Given the description of an element on the screen output the (x, y) to click on. 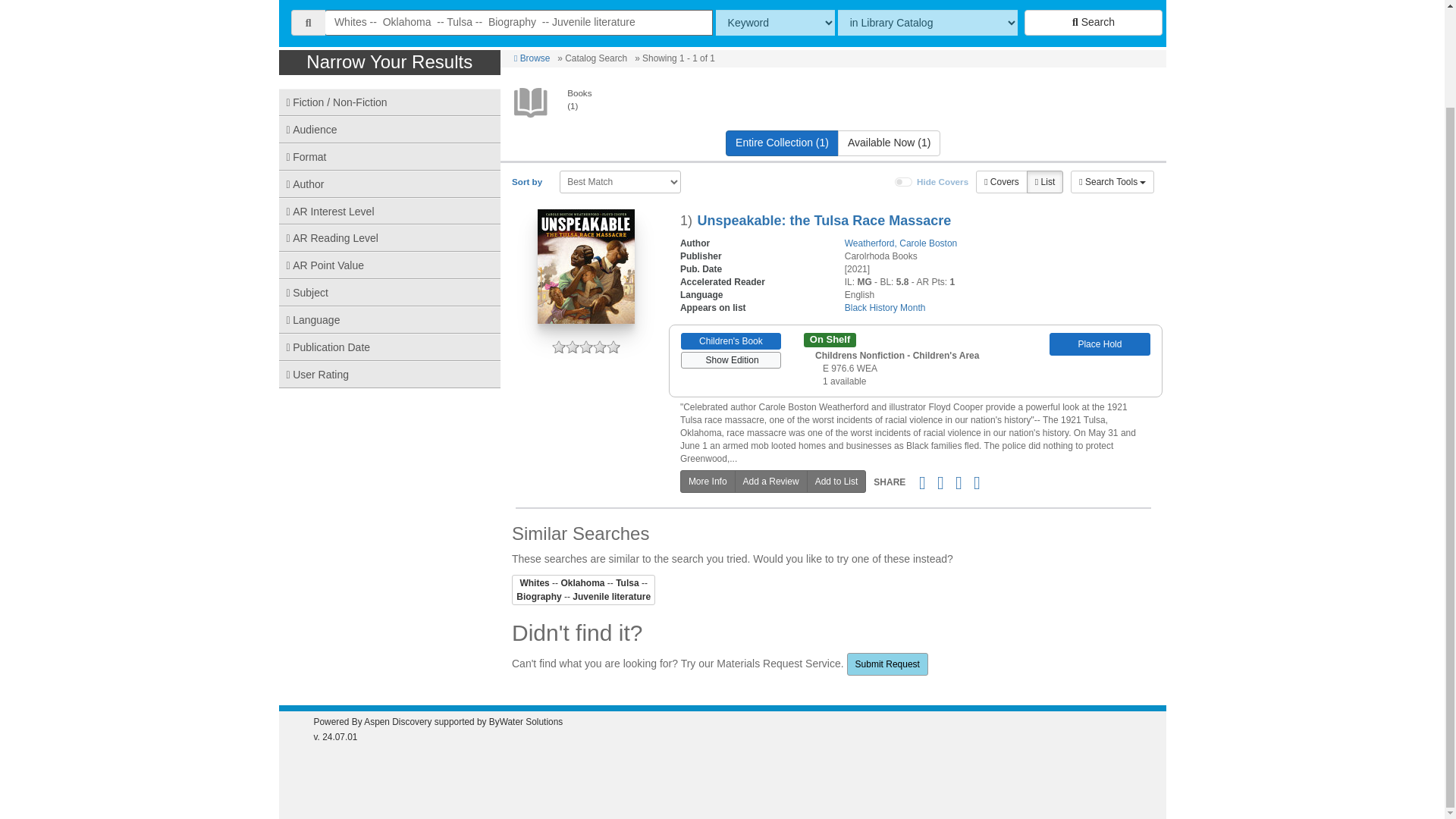
on (903, 181)
The method of searching. (775, 22)
 Search (1093, 22)
Browse (531, 58)
